Given the description of an element on the screen output the (x, y) to click on. 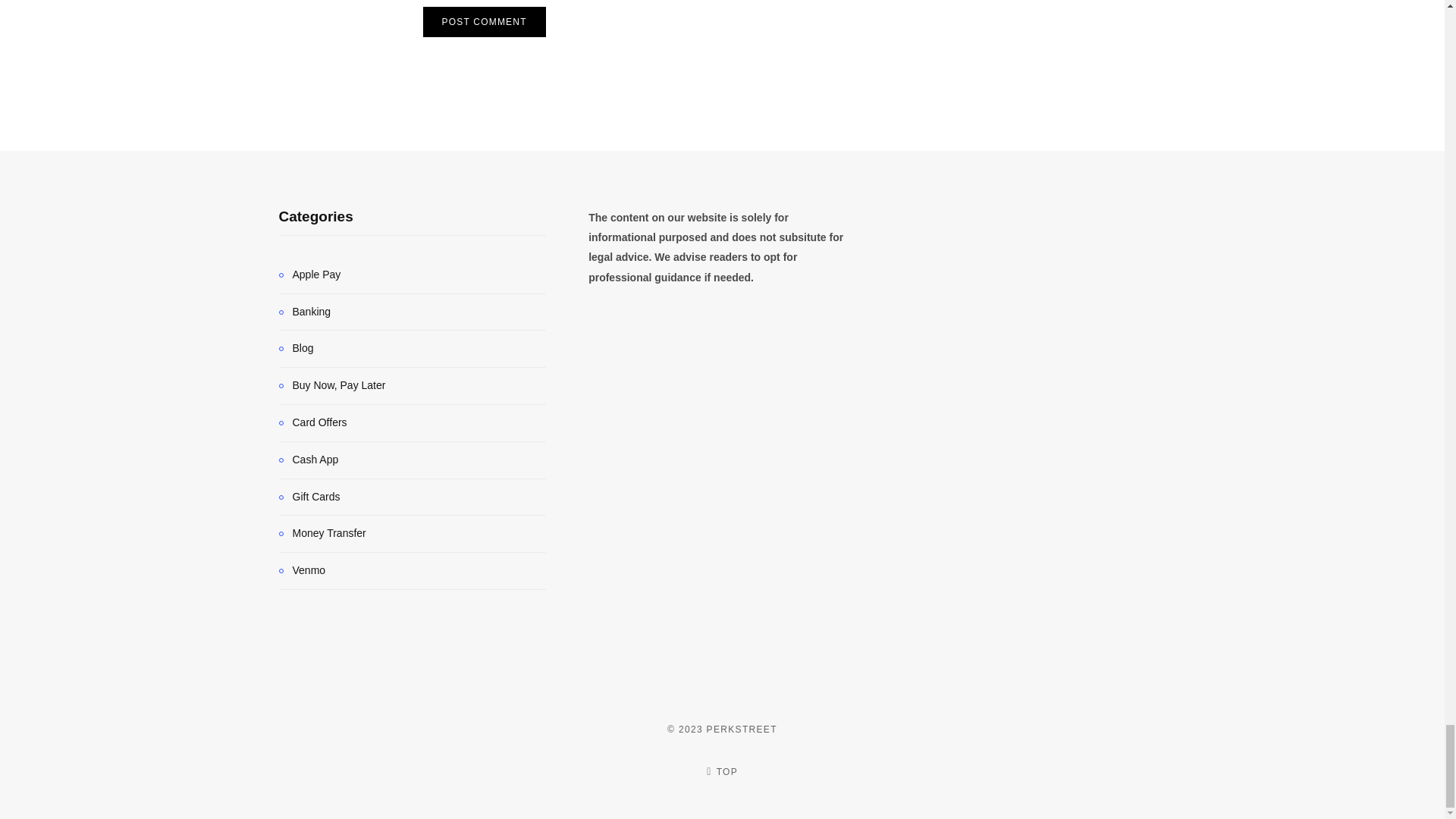
Blog (296, 348)
Post Comment (484, 21)
Card Offers (313, 423)
Apple Pay (309, 275)
Cash App (309, 460)
Buy Now, Pay Later (332, 385)
Banking (305, 312)
Post Comment (484, 21)
Gift Cards (309, 497)
